Given the description of an element on the screen output the (x, y) to click on. 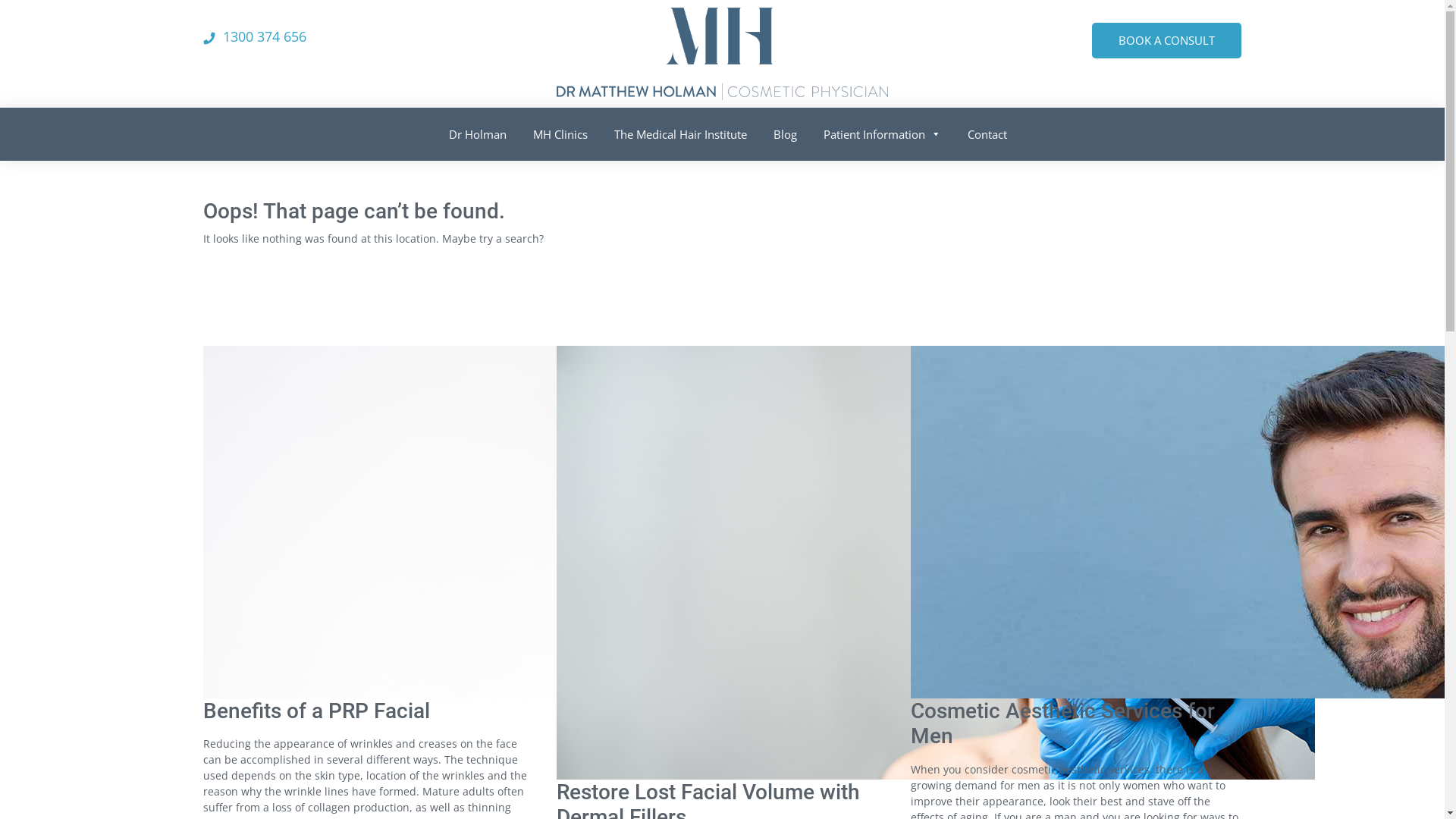
BOOK A CONSULT Element type: text (1166, 40)
1300 374 656 Element type: text (264, 36)
MH Clinics Element type: text (554, 130)
Patient Information Element type: text (876, 130)
Contact Element type: text (981, 130)
The Medical Hair Institute Element type: text (674, 130)
Dr Holman Element type: text (471, 130)
Blog Element type: text (779, 130)
